Given the description of an element on the screen output the (x, y) to click on. 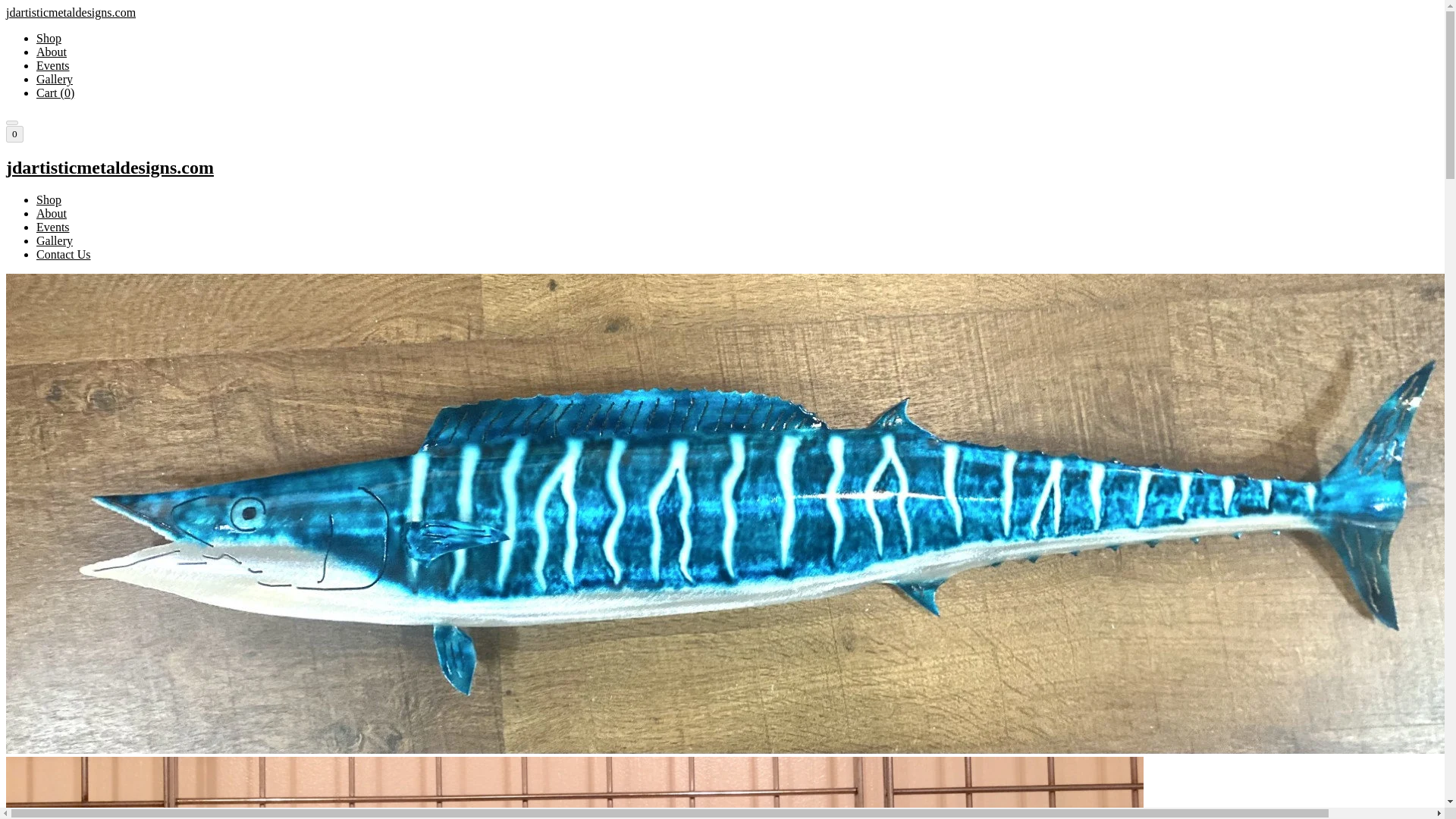
About (51, 213)
0 (14, 134)
Contact Us (63, 254)
Shop (48, 38)
Shop (48, 199)
Gallery (54, 240)
jdartisticmetaldesigns.com (721, 168)
Events (52, 226)
Events (52, 65)
Gallery (54, 78)
About (51, 51)
